Given the description of an element on the screen output the (x, y) to click on. 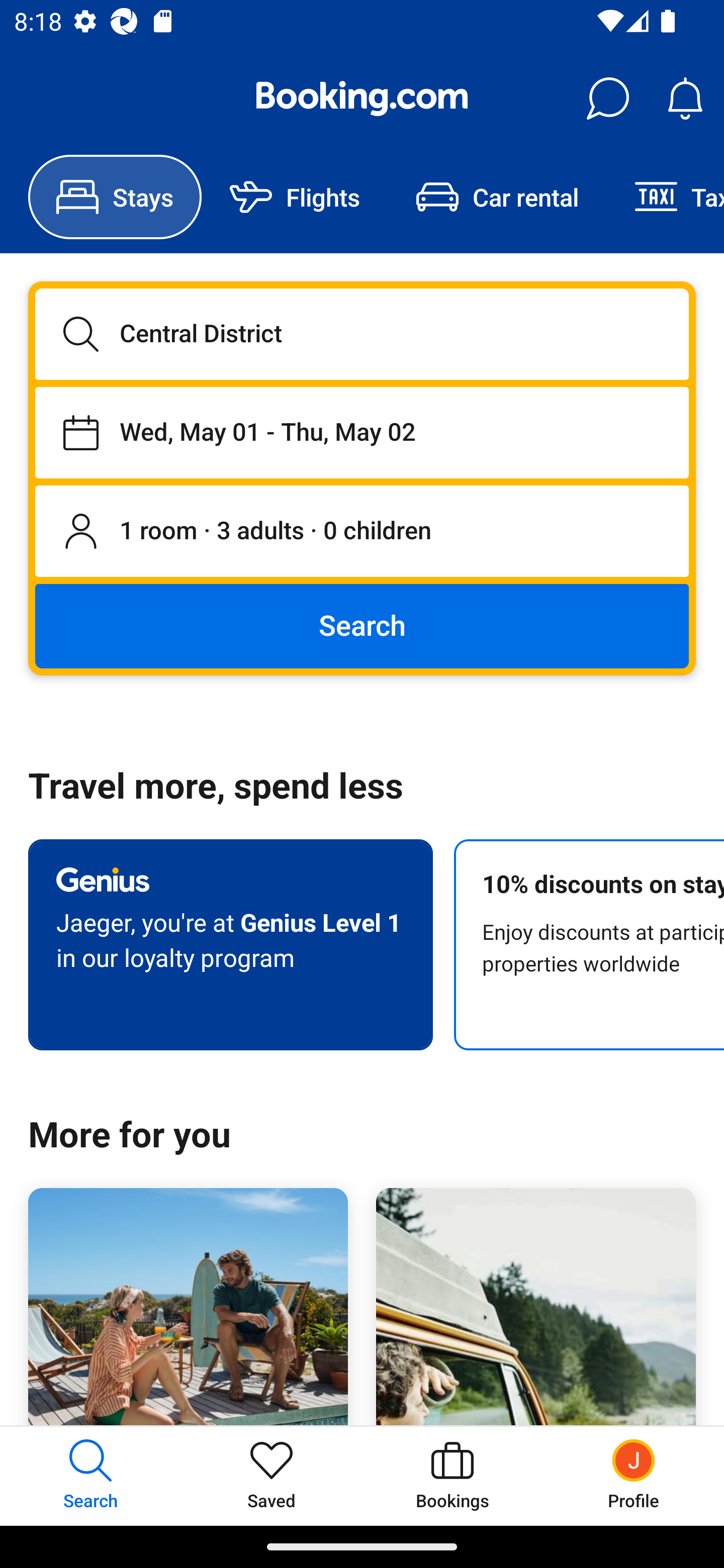
Messages (607, 98)
Notifications (685, 98)
Stays (114, 197)
Flights (294, 197)
Car rental (497, 197)
Taxi (665, 197)
Central District (361, 333)
Staying from Wed, May 01 until Thu, May 02 (361, 432)
1 room, 3 adults, 0 children (361, 531)
Search (361, 625)
Seize the moment Save 15% or more on stays (188, 1306)
Travel articles (535, 1306)
Saved (271, 1475)
Bookings (452, 1475)
Profile (633, 1475)
